Given the description of an element on the screen output the (x, y) to click on. 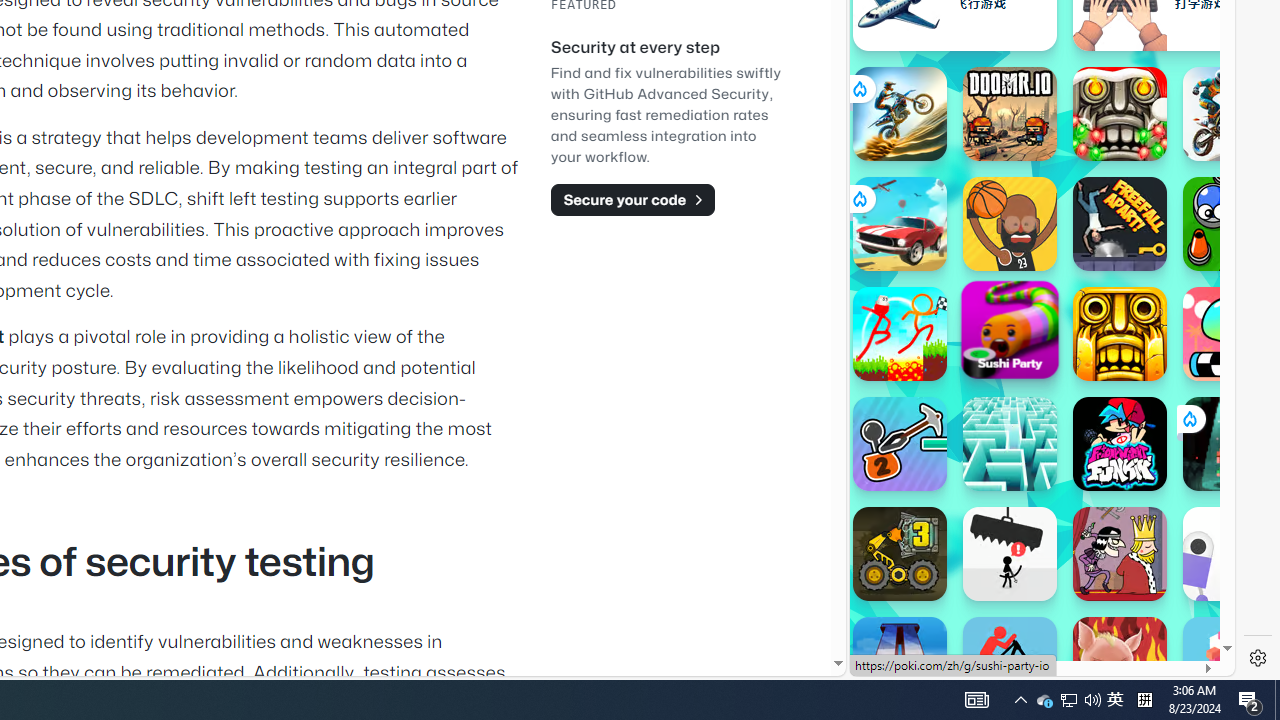
Search results from poki.com (1005, 59)
Stickman Climb 2 (899, 443)
Iron Snout (1119, 664)
Class: rCs5cyEiqiTpYvt_VBCR (1189, 418)
Stickman Parkour 3 Stickman Parkour 3 (899, 333)
Hills of Steel (943, 200)
Combat Reloaded Combat Reloaded poki.com (1092, 245)
poki.com (1092, 338)
Sushi Party Sushi Party (1009, 329)
Click to scroll right (1196, 247)
Sushi Party (1009, 329)
Dunkers 2 (1009, 223)
Murder Murder (1119, 553)
Stickman Bike (1009, 664)
Avoid Dying Avoid Dying (1009, 553)
